Given the description of an element on the screen output the (x, y) to click on. 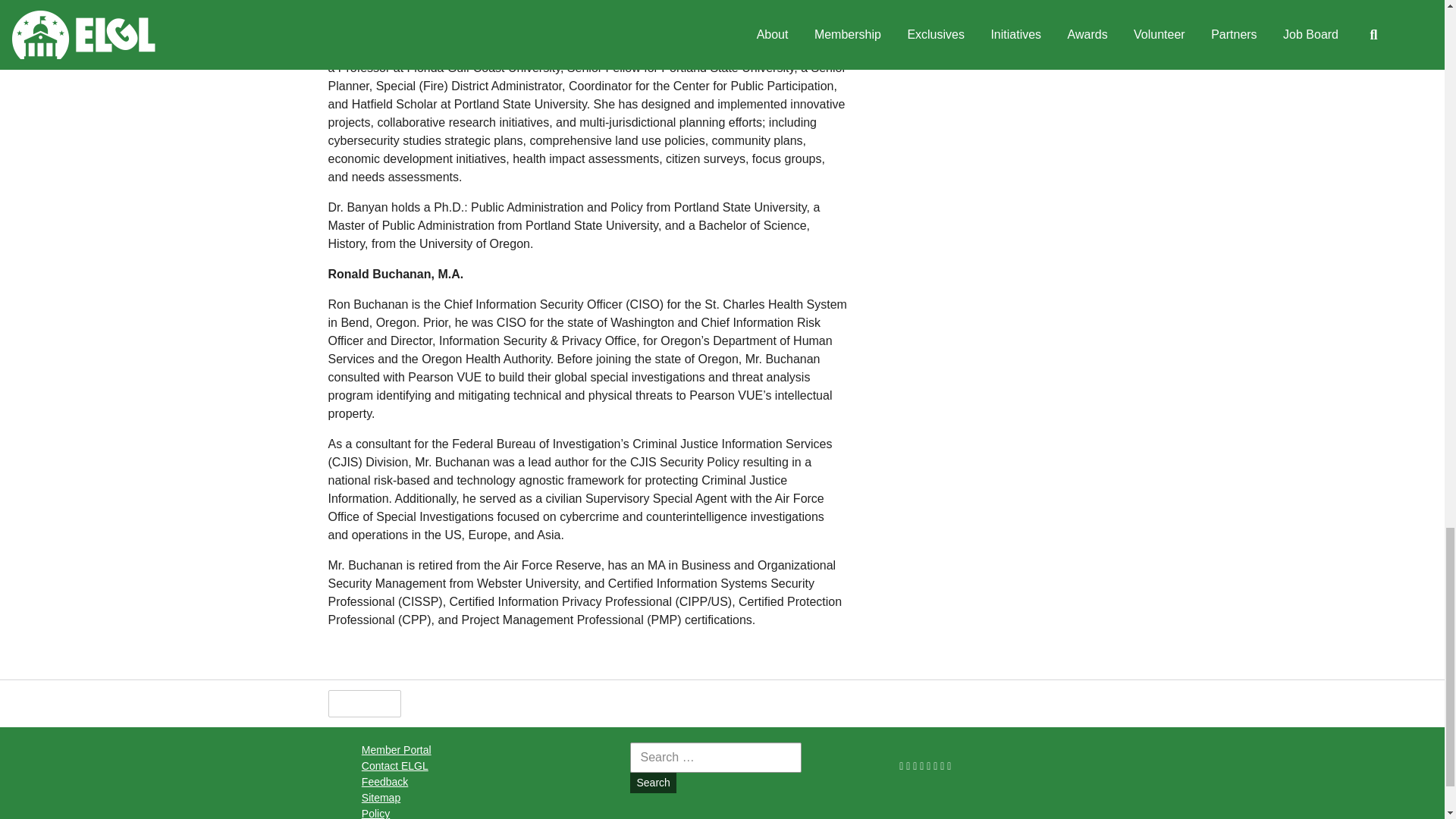
Sitemap (380, 797)
Size (504, 703)
Search (652, 783)
Feedback (384, 781)
Share (436, 703)
Helpful (364, 703)
Policy (375, 813)
Translate (580, 703)
Search (652, 783)
Contact ELGL (394, 766)
